Given the description of an element on the screen output the (x, y) to click on. 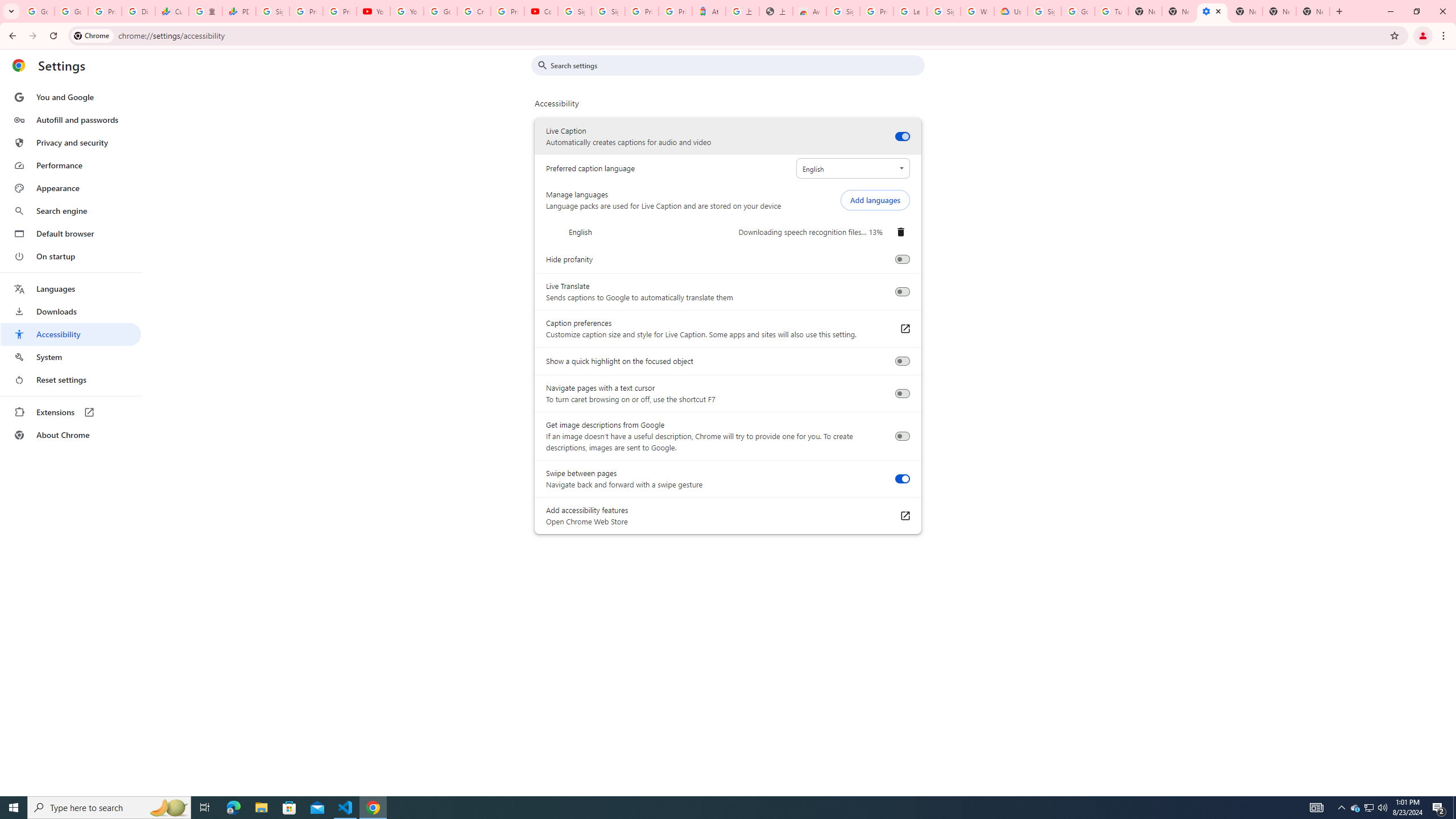
Sign in - Google Accounts (1043, 11)
Hide profanity (901, 259)
Live Translate (901, 291)
Turn cookies on or off - Computer - Google Account Help (1111, 11)
Awesome Screen Recorder & Screenshot - Chrome Web Store (809, 11)
Preferred caption language (852, 168)
Google Account Help (1077, 11)
Remove English (900, 231)
Add languages (875, 200)
